Given the description of an element on the screen output the (x, y) to click on. 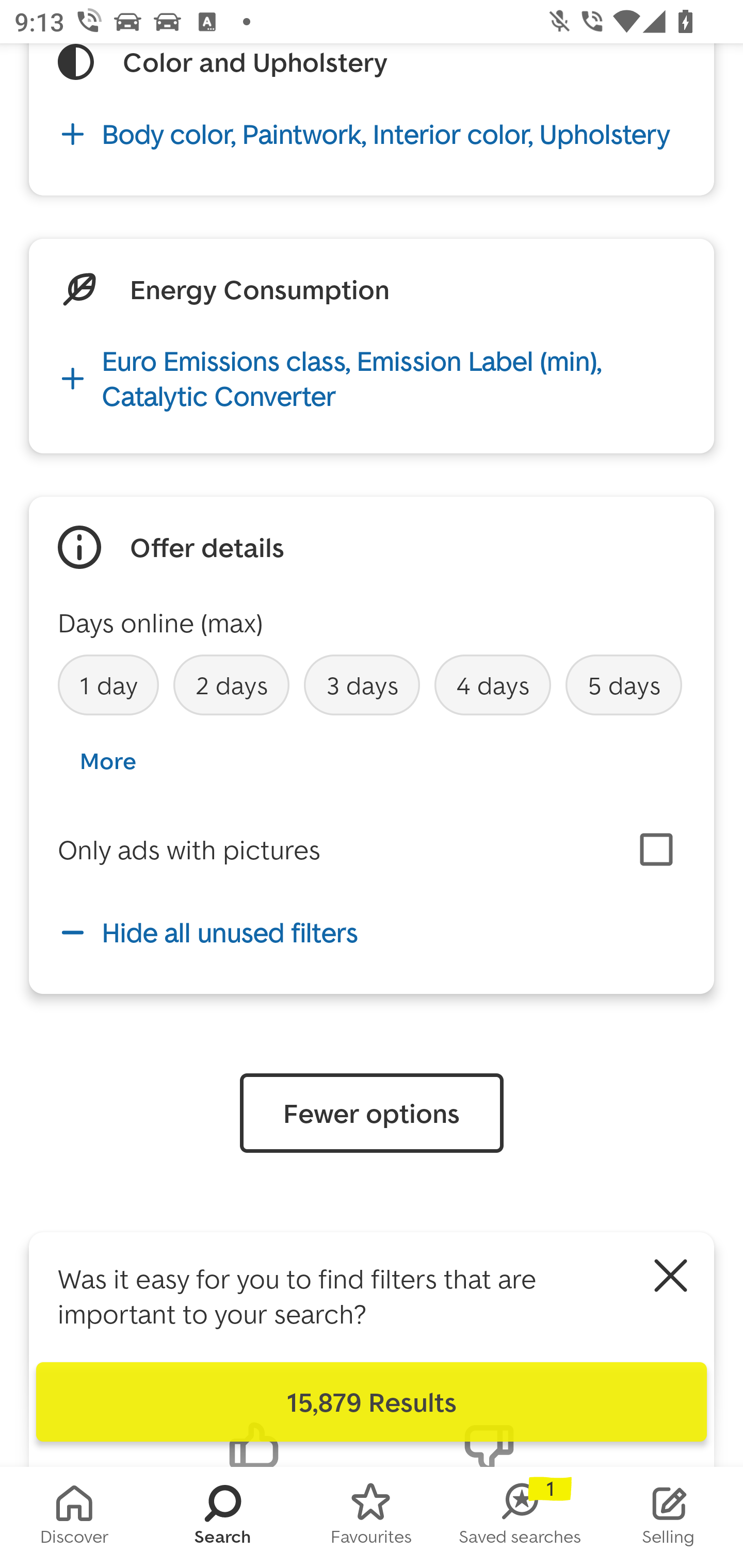
Color and Upholstery (254, 61)
Body color, Paintwork, Interior color, Upholstery (371, 134)
Energy Consumption (259, 289)
Offer details (207, 546)
Days online (max) (160, 622)
1 day (108, 684)
2 days (231, 684)
4 days (492, 684)
5 days (623, 684)
More (107, 760)
Only ads with pictures (188, 849)
Hide all unused filters (371, 932)
Fewer options (371, 1113)
15,879 Results (371, 1401)
HOMESCREEN Discover (74, 1517)
SEARCH Search (222, 1517)
FAVORITES Favourites (371, 1517)
SAVED_SEARCHES Saved searches 1 (519, 1517)
STOCK_LIST Selling (668, 1517)
